Given the description of an element on the screen output the (x, y) to click on. 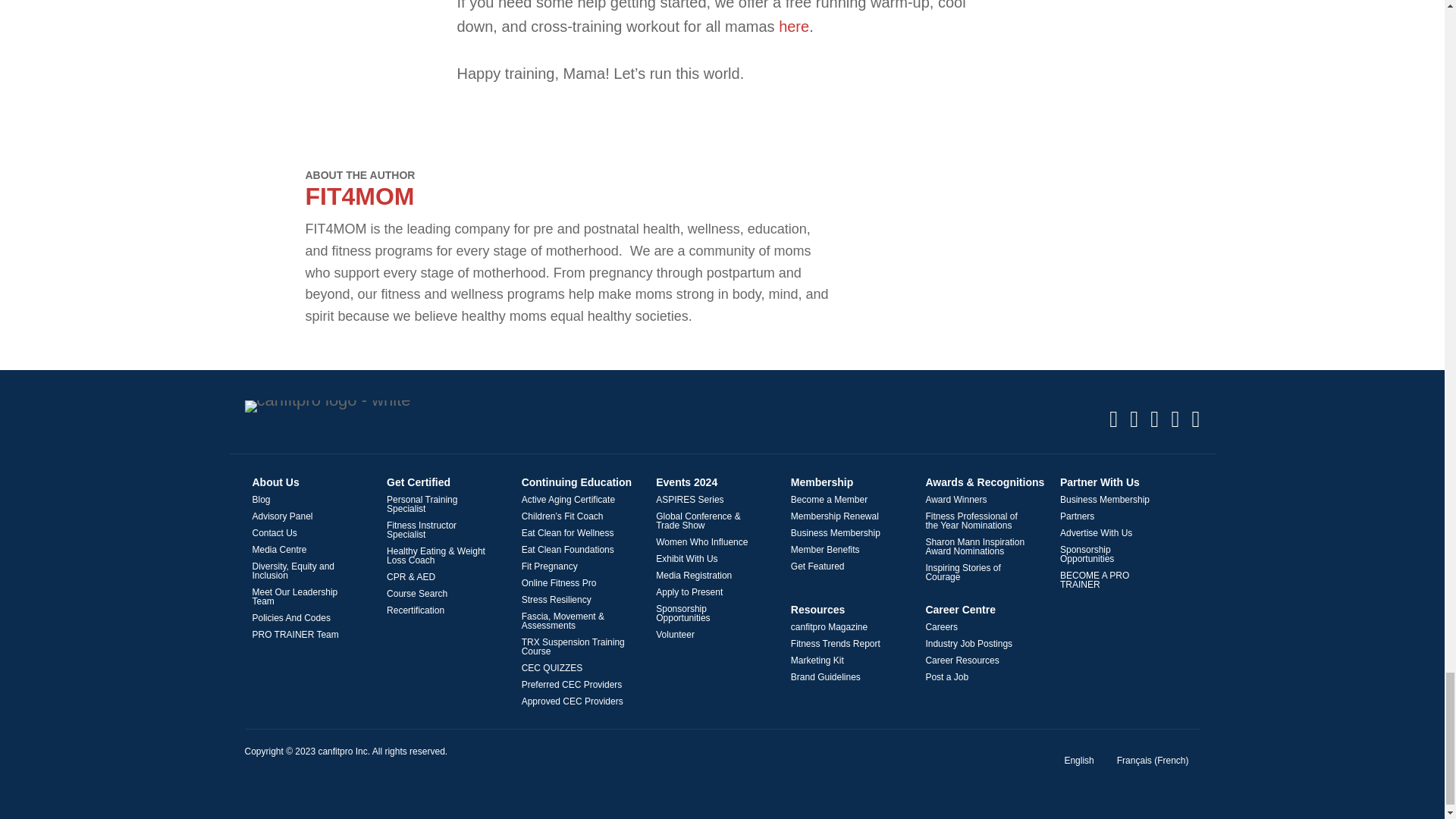
French (1152, 760)
English (1078, 760)
canfitpro.White-01 (327, 406)
